Given the description of an element on the screen output the (x, y) to click on. 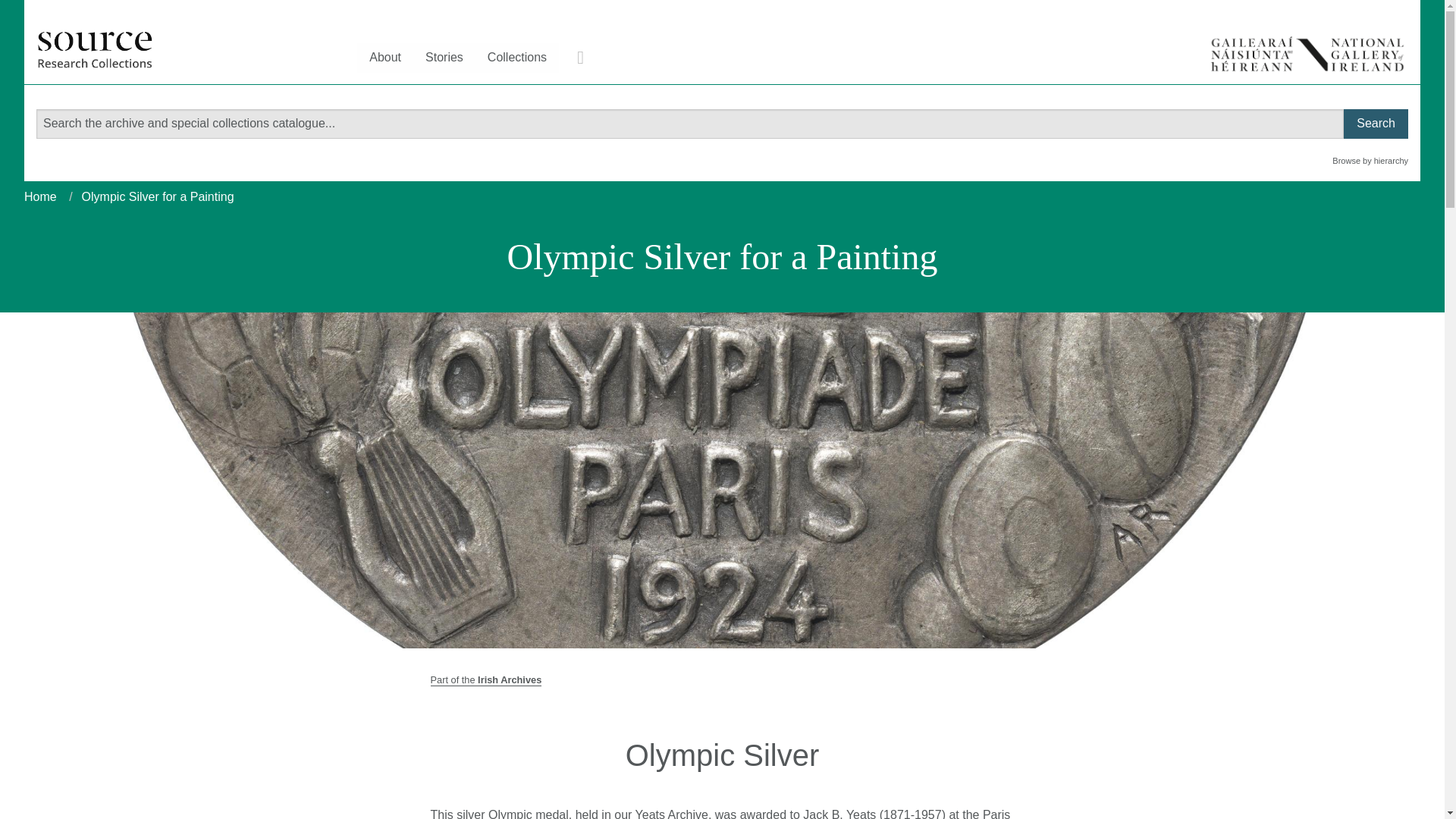
Accessibility options (580, 57)
Collections (517, 57)
Logo - home page link (94, 41)
Search (1375, 123)
Search (1375, 123)
Home (40, 196)
About (384, 57)
Stories (444, 57)
Browse by hierarchy (1369, 161)
National Gallery of Ireland external link (1307, 54)
National Gallery of Ireland (1307, 54)
